Given the description of an element on the screen output the (x, y) to click on. 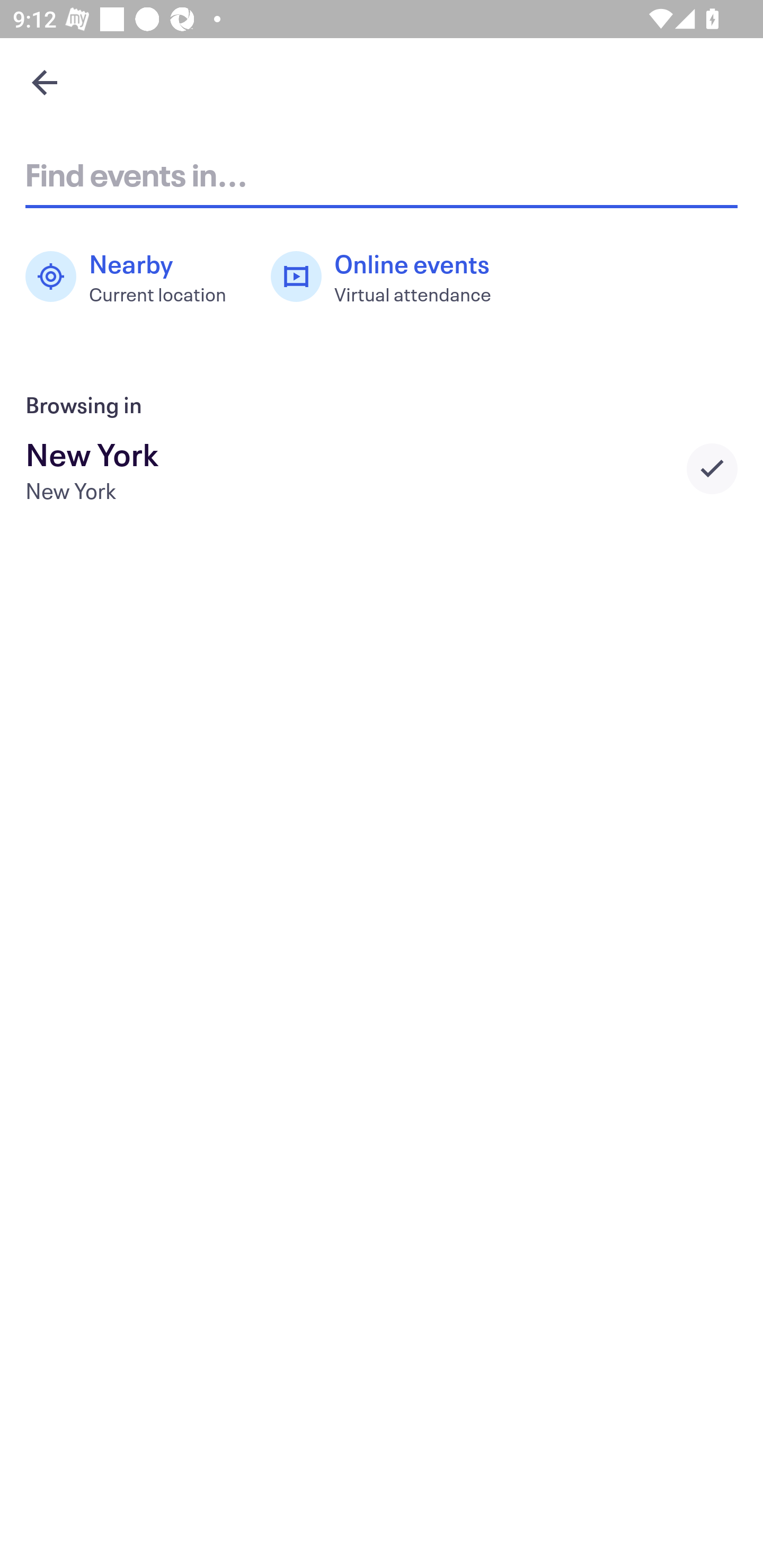
Navigate up (44, 82)
Find events in... (381, 173)
Nearby Current location (135, 276)
Online events Virtual attendance (390, 276)
New York New York Selected city (381, 468)
